Given the description of an element on the screen output the (x, y) to click on. 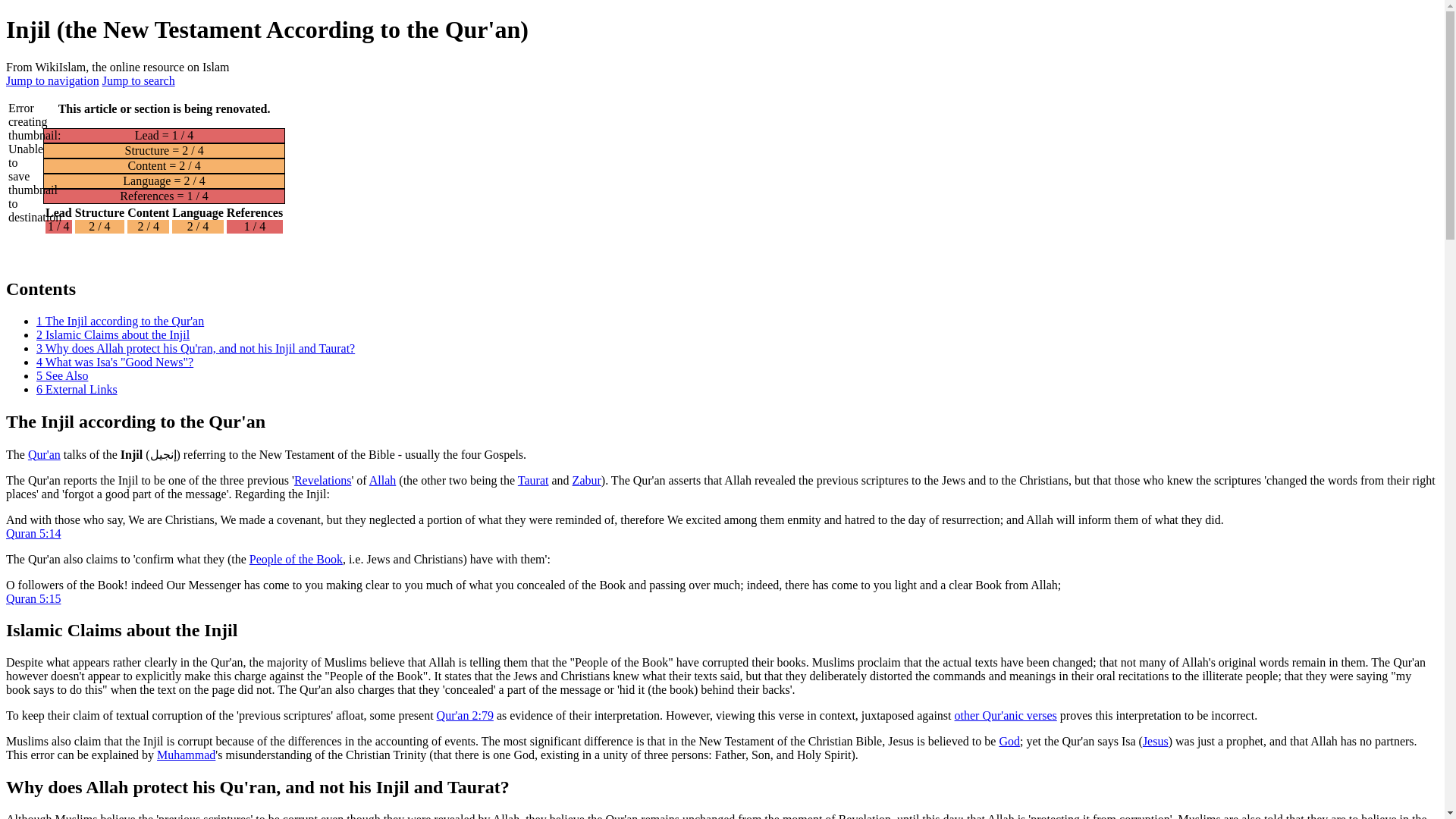
Revelations (323, 479)
Taurat (533, 479)
God (1009, 740)
Taurat (533, 479)
Allah (382, 479)
Qur'an 2:79 (464, 715)
2 Islamic Claims about the Injil (112, 334)
Allah (382, 479)
5 See Also (61, 375)
Quran 5:14 (33, 532)
Jump to navigation (52, 80)
Muhammad (186, 754)
1 The Injil according to the Qur'an (119, 320)
6 External Links (76, 389)
